Given the description of an element on the screen output the (x, y) to click on. 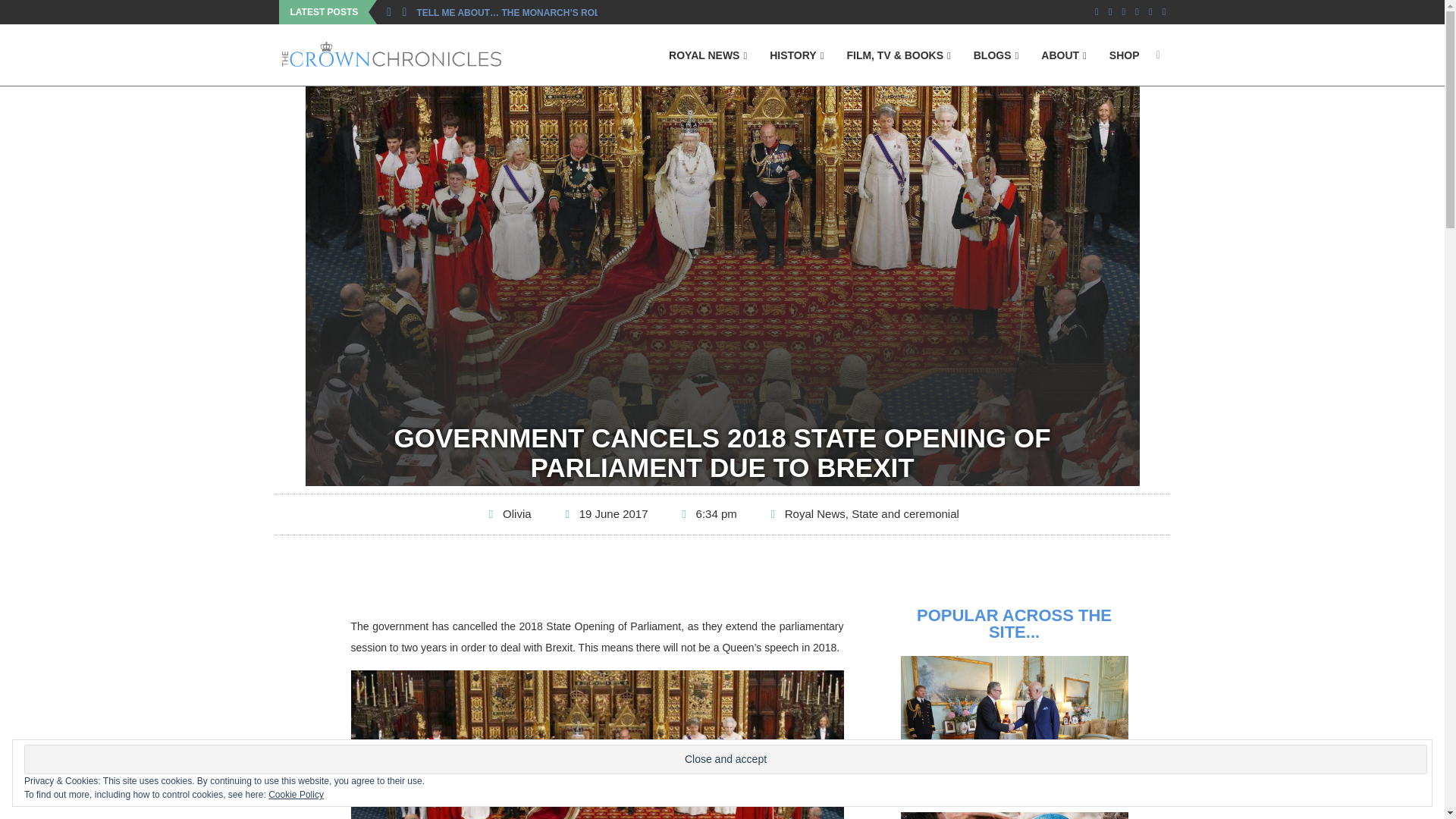
Close and accept (725, 758)
ROYAL NEWS (707, 55)
